Given the description of an element on the screen output the (x, y) to click on. 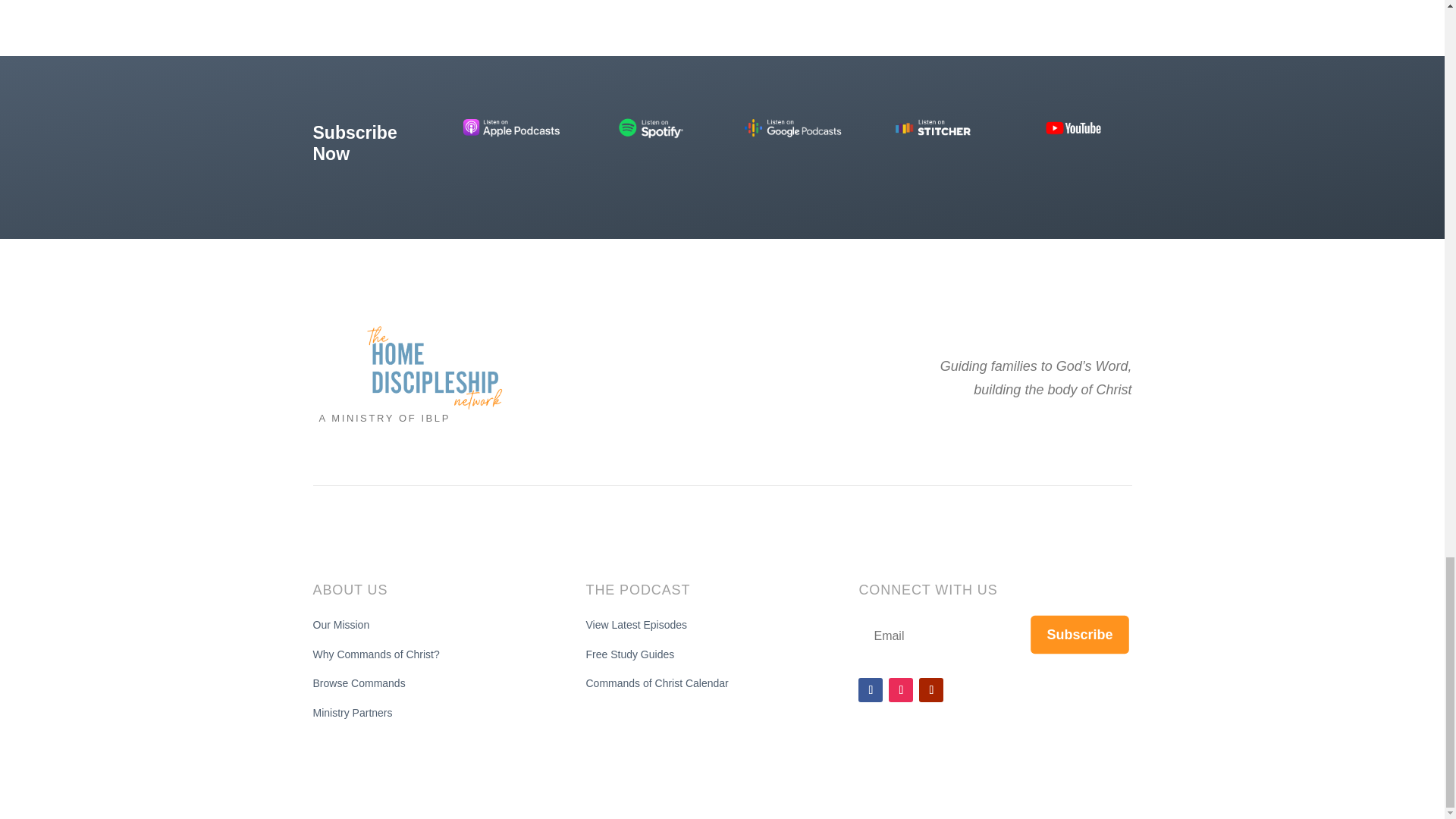
apple-podcasts-badge-750png (510, 126)
stitcher-badge-750 (933, 126)
Follow on Youtube (930, 689)
Follow on Instagram (900, 689)
Follow on Facebook (870, 689)
Group 1 (434, 367)
google-podcasts-badge-750 (792, 126)
youtube-badge-750 (1072, 126)
spotify-badge-750 (652, 126)
